Given the description of an element on the screen output the (x, y) to click on. 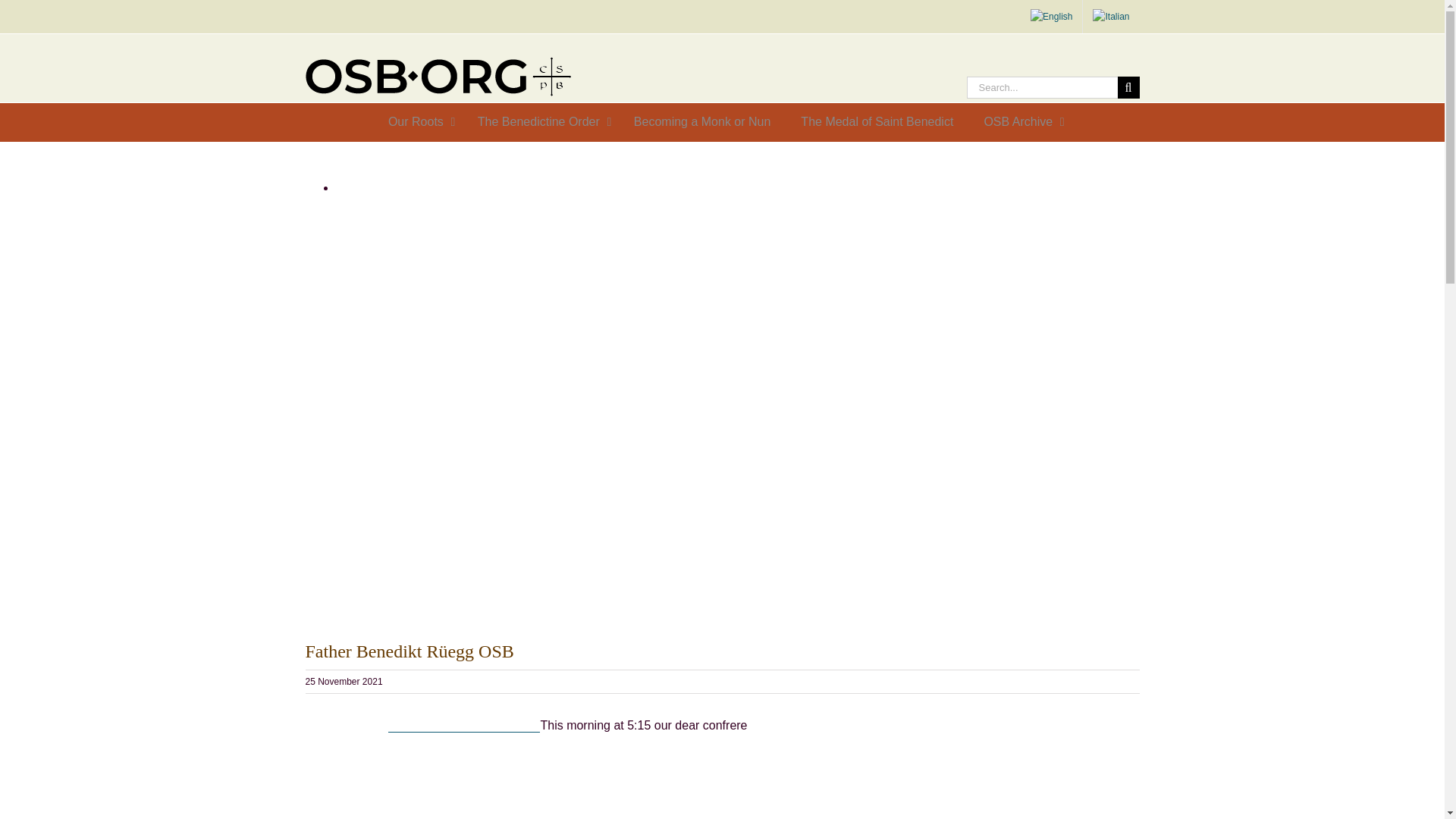
The Medal of Saint Benedict (877, 122)
The Benedictine Order (540, 122)
Becoming a Monk or Nun (702, 122)
OSB Archive (1019, 122)
Our Roots (417, 122)
